Given the description of an element on the screen output the (x, y) to click on. 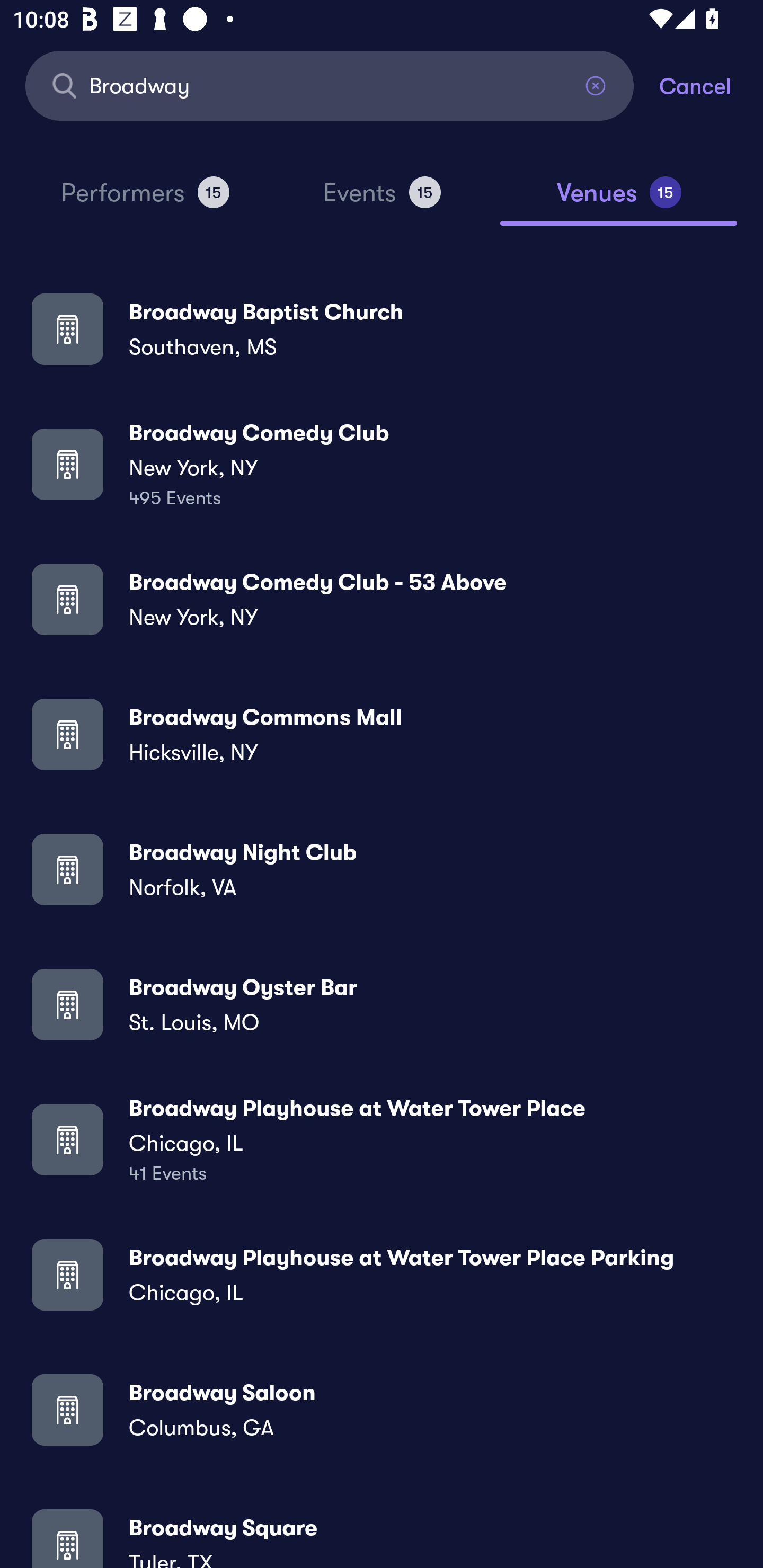
Broadway Find (329, 85)
Broadway Find (329, 85)
Cancel (711, 85)
Performers 15 (144, 200)
Events 15 (381, 200)
Venues 15 (618, 200)
Broadway Baptist Church Southaven, MS (381, 328)
Broadway Comedy Club New York, NY 495 Events (381, 464)
Broadway Comedy Club - 53 Above New York, NY (381, 598)
Broadway Commons Mall Hicksville, NY (381, 734)
Broadway Night Club Norfolk, VA (381, 869)
Broadway Oyster Bar St. Louis, MO (381, 1004)
Broadway Saloon Columbus, GA (381, 1409)
Broadway Square Tyler, TX (381, 1532)
